Given the description of an element on the screen output the (x, y) to click on. 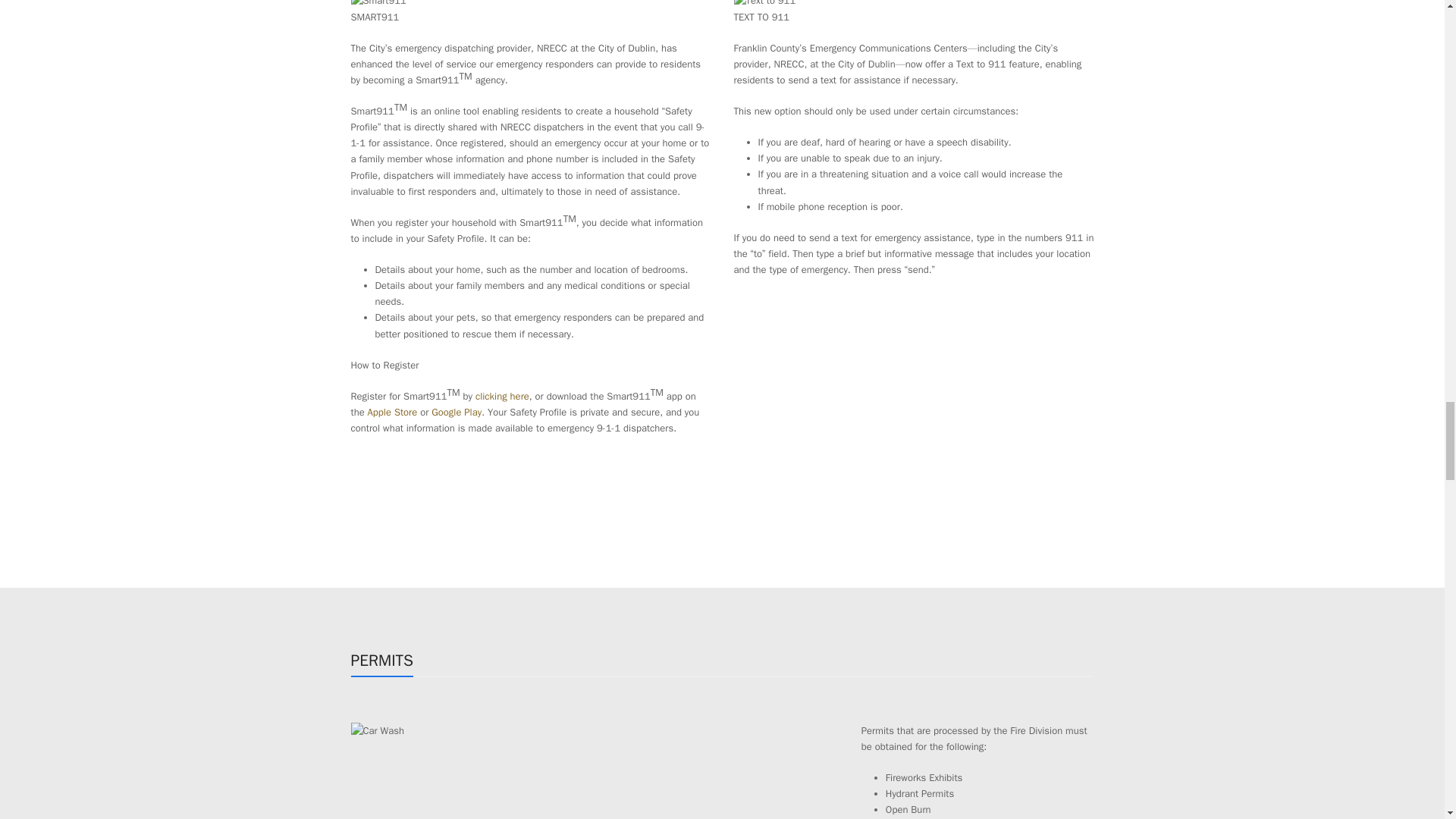
Car Wash (377, 730)
Text to 911 (764, 4)
Smart911 (378, 4)
